Given the description of an element on the screen output the (x, y) to click on. 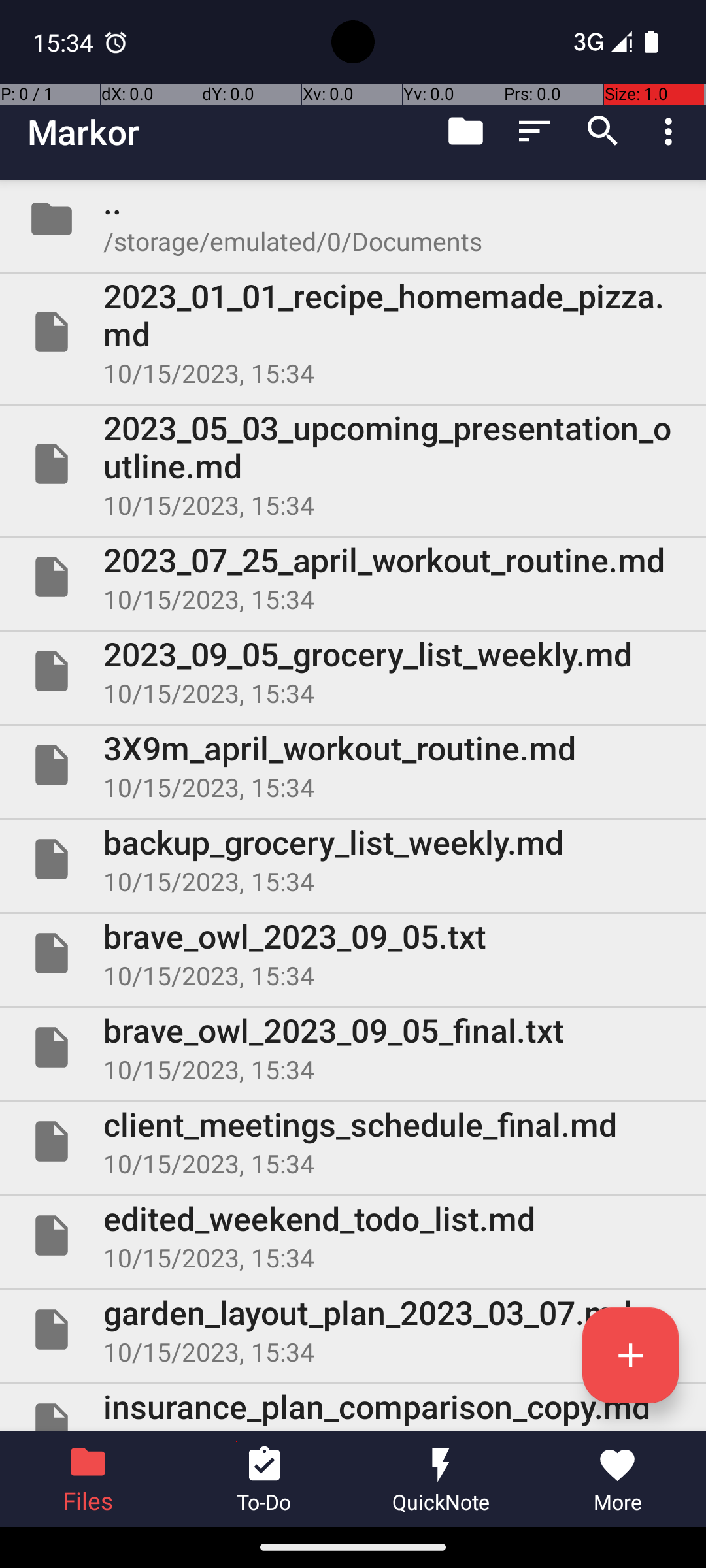
File 2023_01_01_recipe_homemade_pizza.md  Element type: android.widget.LinearLayout (353, 331)
File 2023_05_03_upcoming_presentation_outline.md  Element type: android.widget.LinearLayout (353, 463)
File 2023_07_25_april_workout_routine.md  Element type: android.widget.LinearLayout (353, 576)
File 2023_09_05_grocery_list_weekly.md  Element type: android.widget.LinearLayout (353, 670)
File 3X9m_april_workout_routine.md  Element type: android.widget.LinearLayout (353, 764)
File backup_grocery_list_weekly.md  Element type: android.widget.LinearLayout (353, 858)
File brave_owl_2023_09_05.txt  Element type: android.widget.LinearLayout (353, 953)
File brave_owl_2023_09_05_final.txt  Element type: android.widget.LinearLayout (353, 1047)
File client_meetings_schedule_final.md  Element type: android.widget.LinearLayout (353, 1141)
File edited_weekend_todo_list.md  Element type: android.widget.LinearLayout (353, 1235)
File garden_layout_plan_2023_03_07.md  Element type: android.widget.LinearLayout (353, 1329)
File insurance_plan_comparison_copy.md  Element type: android.widget.LinearLayout (353, 1407)
